Given the description of an element on the screen output the (x, y) to click on. 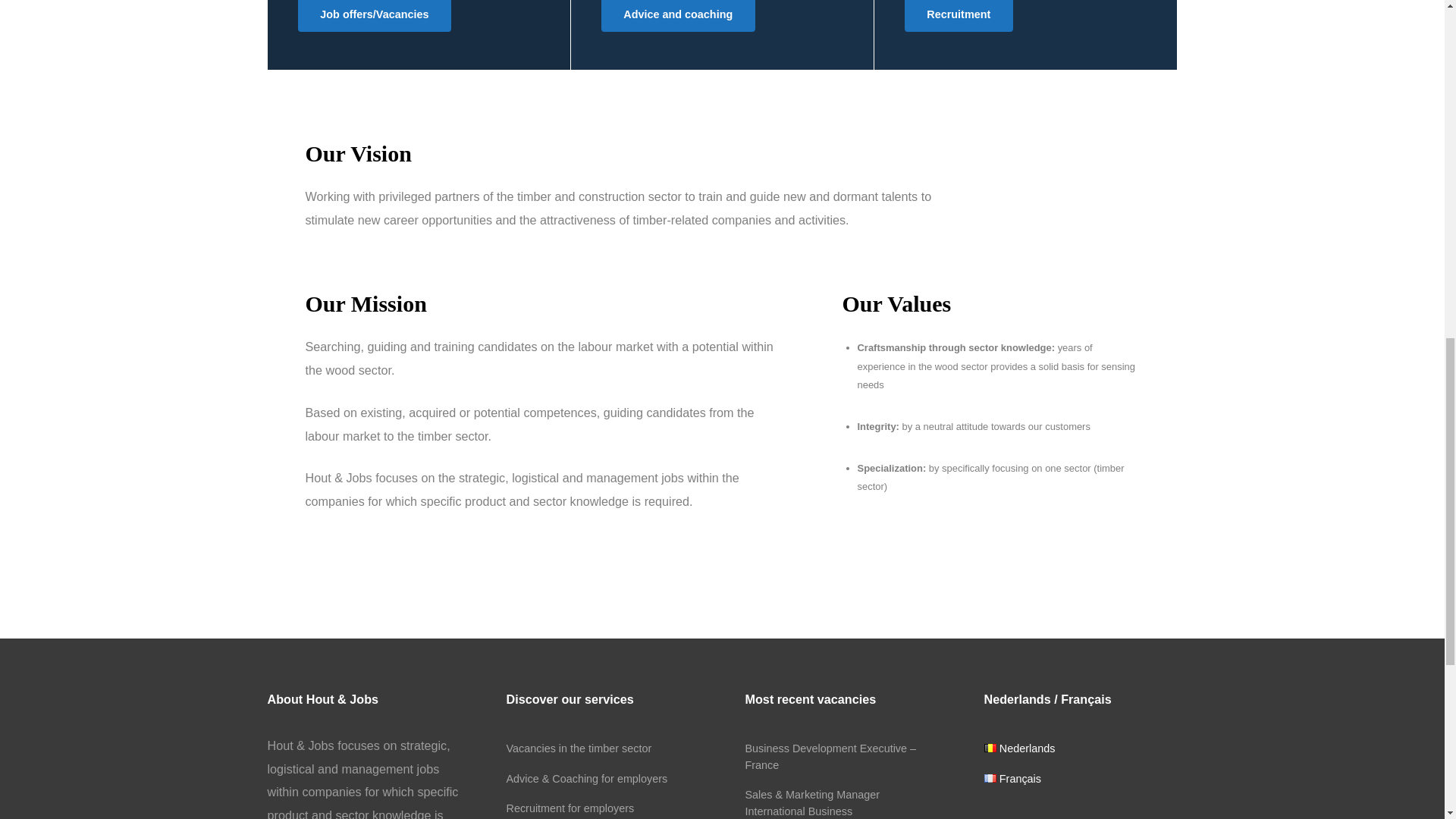
Advice and coaching (677, 15)
Recruitment for employers (570, 808)
Vacancies in the timber sector (579, 748)
Nederlands (1019, 748)
Recruitment (958, 15)
